Given the description of an element on the screen output the (x, y) to click on. 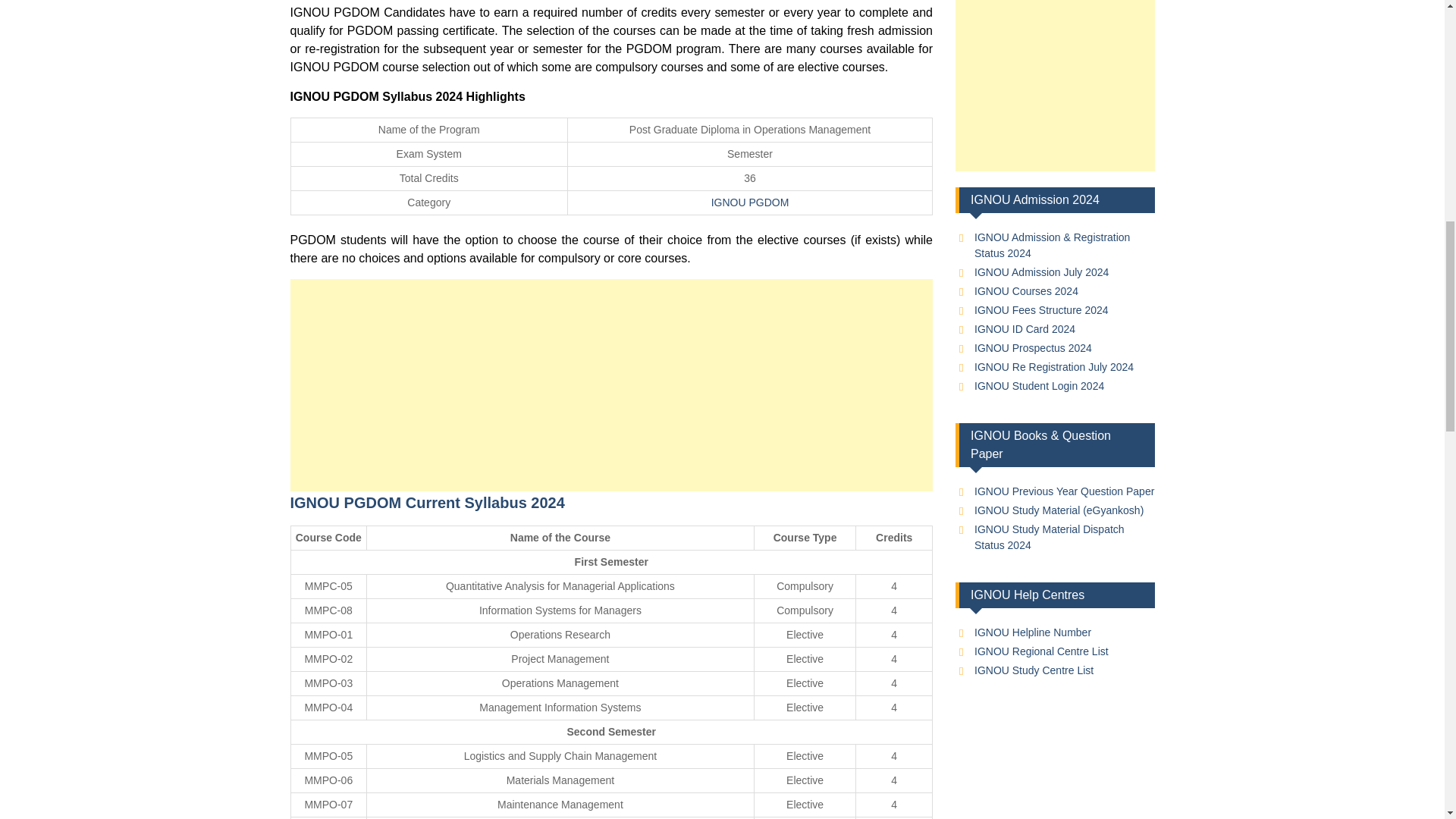
IGNOU PGDOM (750, 202)
IGNOU Admission July 2024 (1041, 272)
Advertisement (1054, 85)
